Given the description of an element on the screen output the (x, y) to click on. 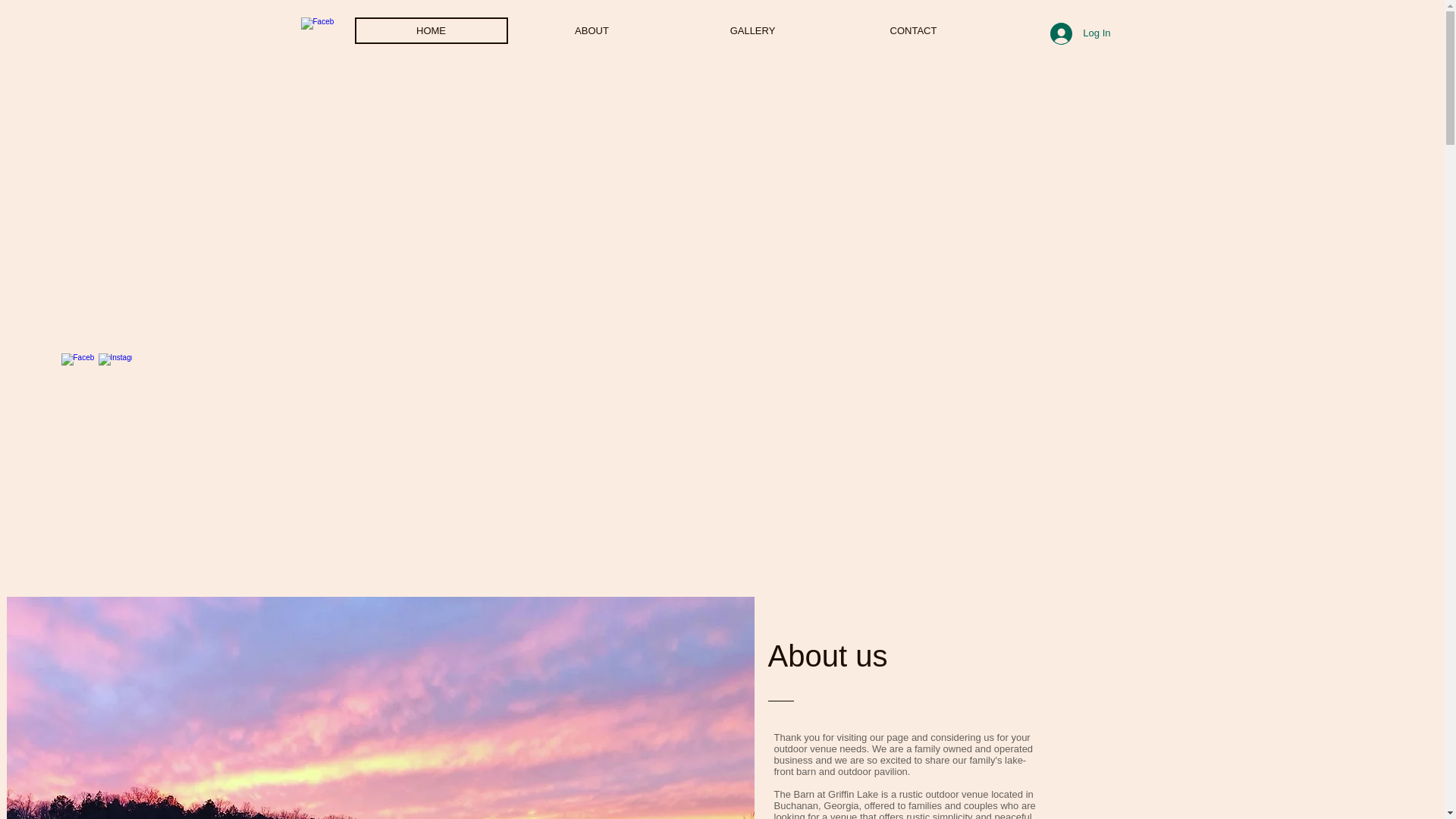
CONTACT (913, 30)
HOME (431, 30)
ABOUT (591, 30)
Log In (1080, 33)
GALLERY (753, 30)
